Given the description of an element on the screen output the (x, y) to click on. 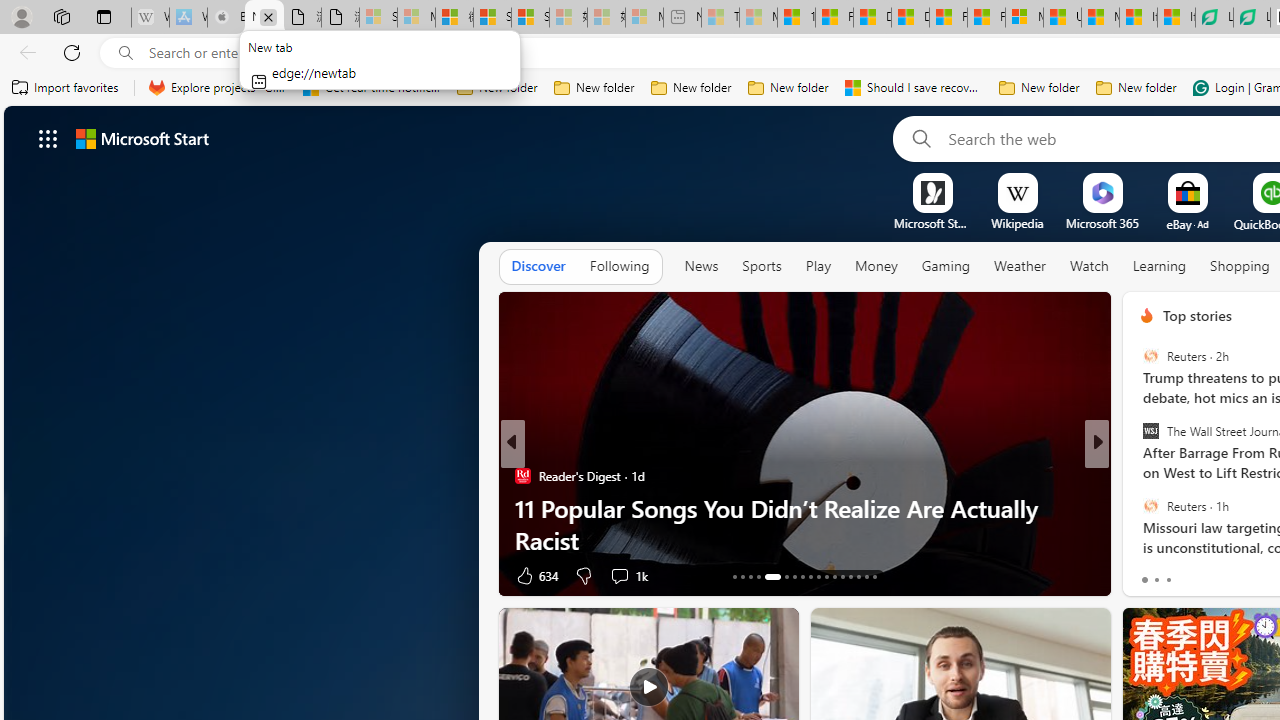
Foo BAR | Trusted Community Engagement and Contributions (985, 17)
Search icon (125, 53)
AutomationID: tab-15 (750, 576)
Marine life - MSN - Sleeping (757, 17)
Buy iPad - Apple - Sleeping (225, 17)
LA Times (1138, 475)
The Weather Channel (1138, 507)
